Given the description of an element on the screen output the (x, y) to click on. 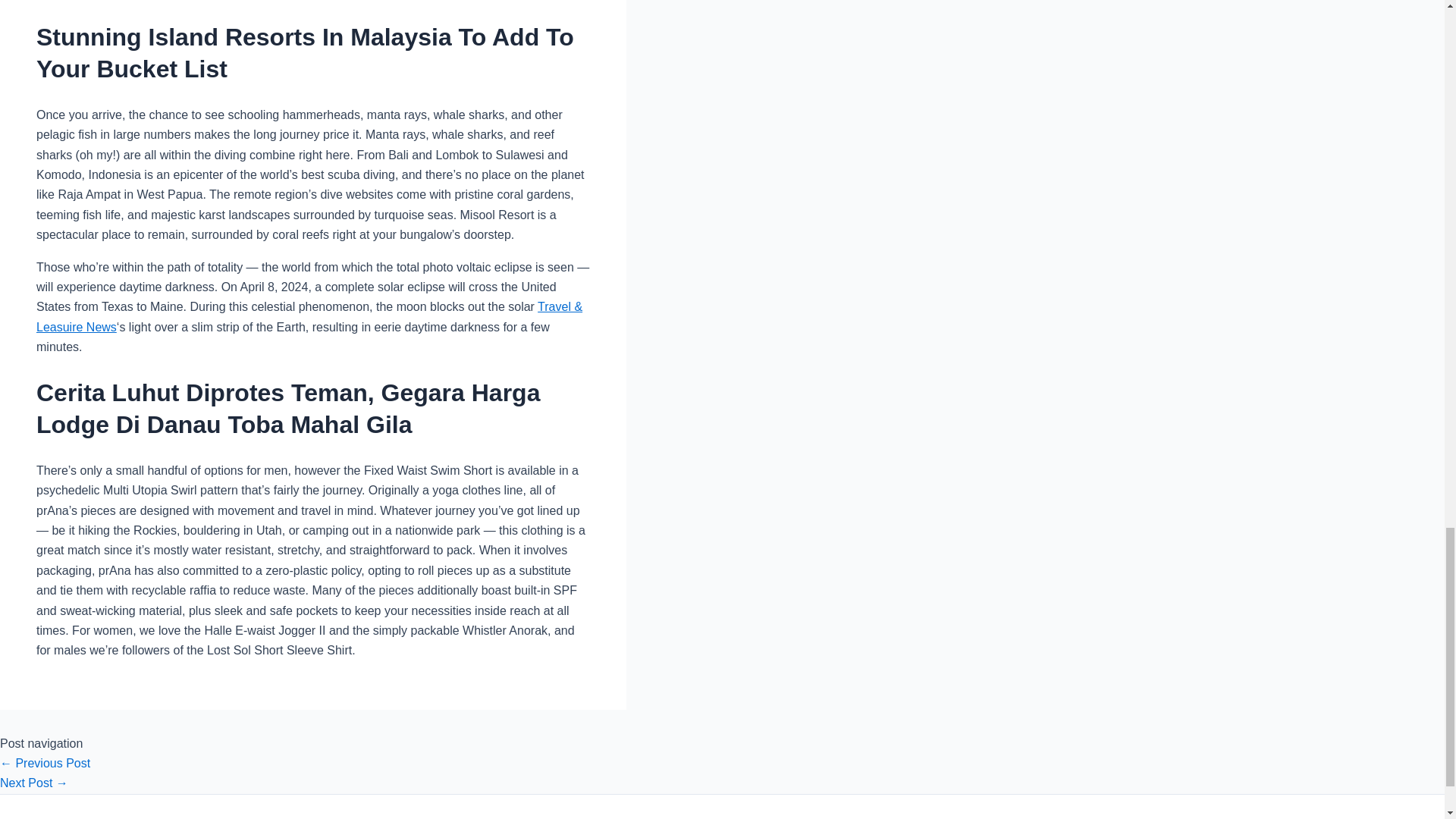
Cars The New York Times (45, 762)
